Given the description of an element on the screen output the (x, y) to click on. 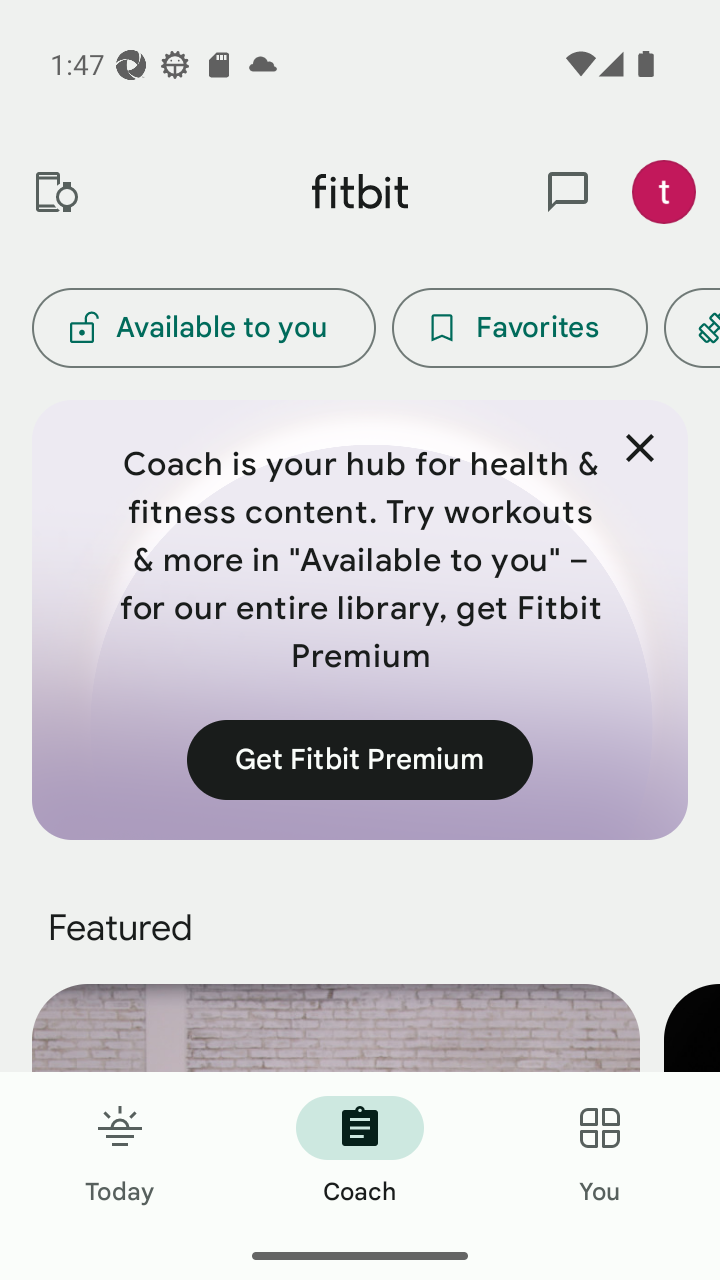
Devices and apps (55, 191)
messages and notifications (567, 191)
Available to you (203, 328)
Favorites (519, 328)
Close promotional content (639, 447)
Get Fitbit Premium (359, 759)
Today (119, 1151)
You (600, 1151)
